Given the description of an element on the screen output the (x, y) to click on. 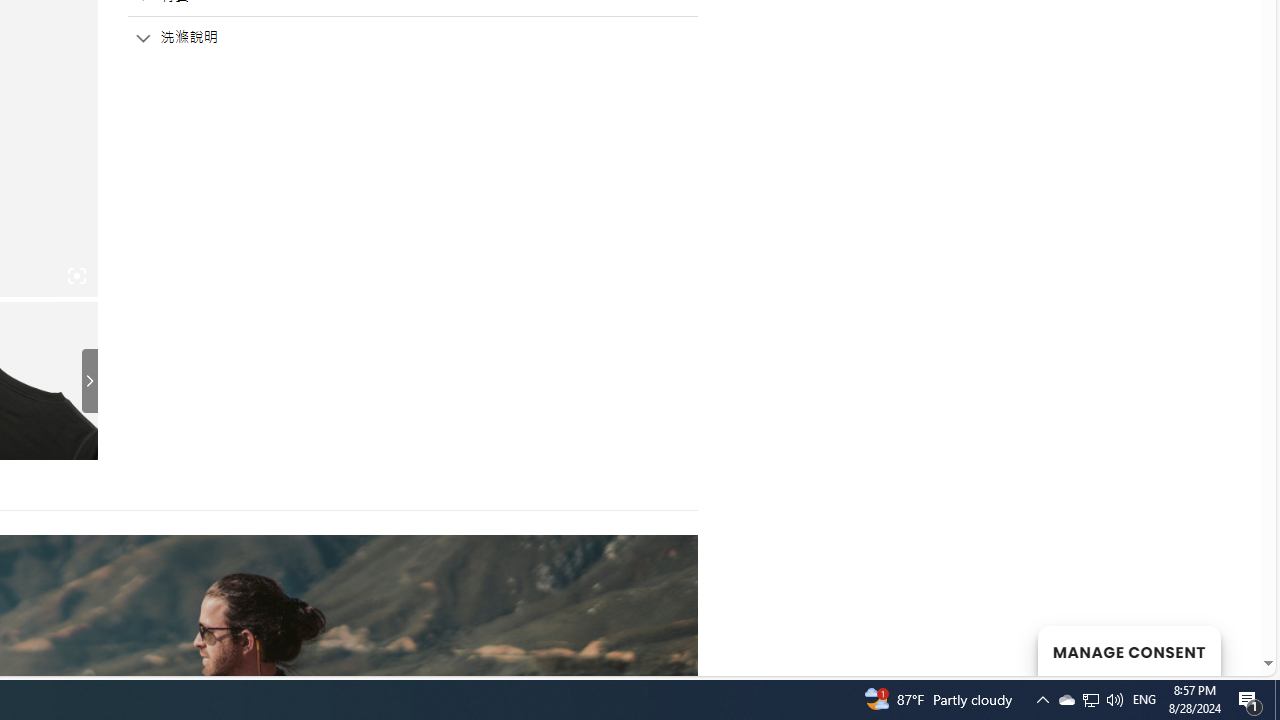
MANAGE CONSENT (1128, 650)
Class: iconic-woothumbs-fullscreen (75, 276)
